Given the description of an element on the screen output the (x, y) to click on. 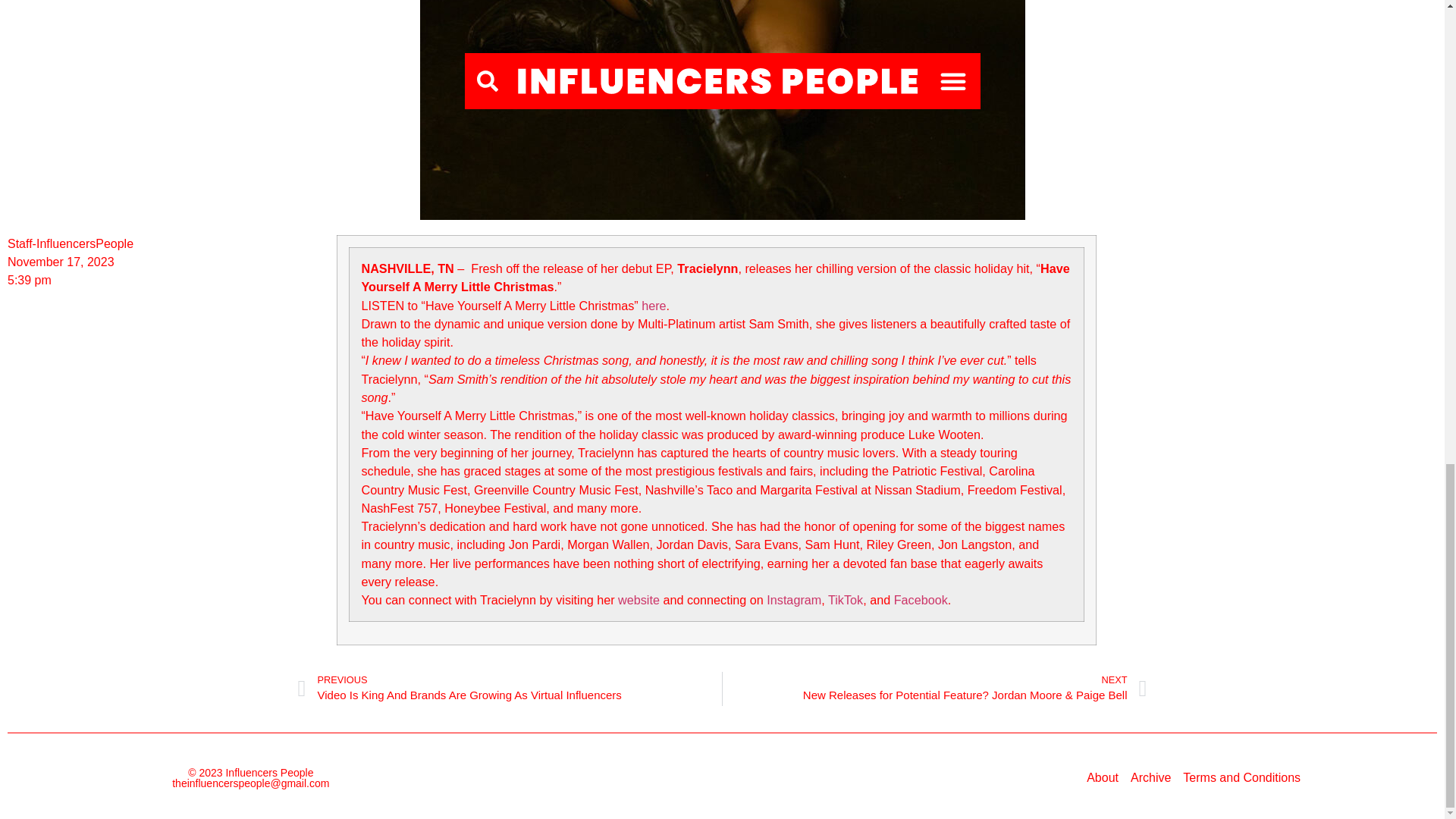
About (1102, 778)
website (638, 599)
November 17, 2023 (61, 262)
Archive (1150, 778)
Facebook (920, 599)
Terms and Conditions (1241, 778)
Staff-InfluencersPeople (70, 244)
Instagram (794, 599)
here (653, 305)
TikTok (845, 599)
